Given the description of an element on the screen output the (x, y) to click on. 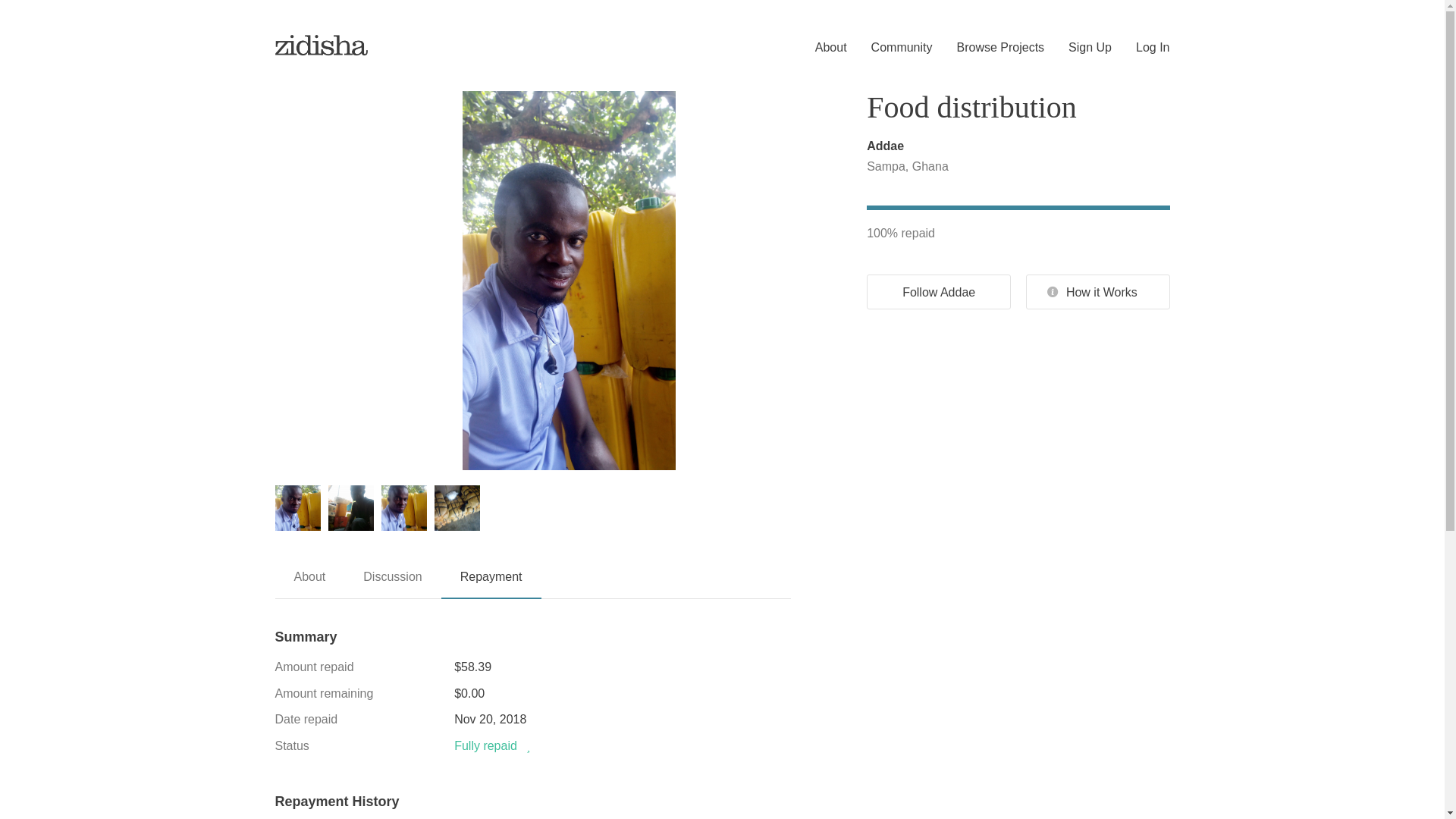
Log In (1140, 47)
About (818, 47)
Discussion (392, 582)
How it Works (1098, 291)
Follow Addae (938, 291)
Sign Up (1077, 47)
Zidisha (321, 44)
About (309, 582)
Repayment (491, 583)
Browse Projects (989, 47)
Community (890, 47)
